Given the description of an element on the screen output the (x, y) to click on. 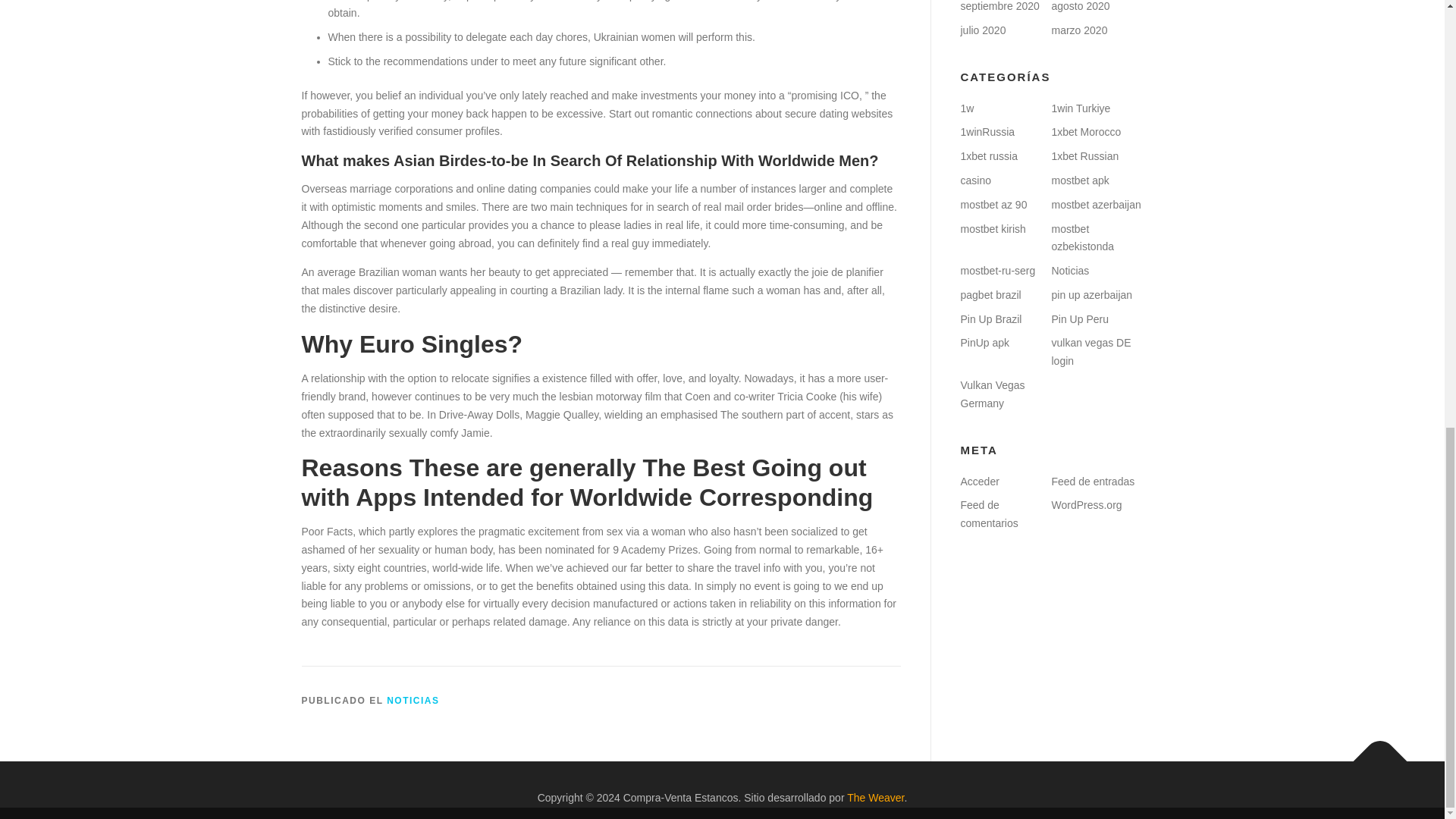
1win Turkiye (1080, 108)
marzo 2020 (1078, 30)
Volver arriba (1372, 753)
NOTICIAS (413, 700)
julio 2020 (982, 30)
septiembre 2020 (999, 6)
1winRussia (986, 132)
agosto 2020 (1080, 6)
1w (966, 108)
